Given the description of an element on the screen output the (x, y) to click on. 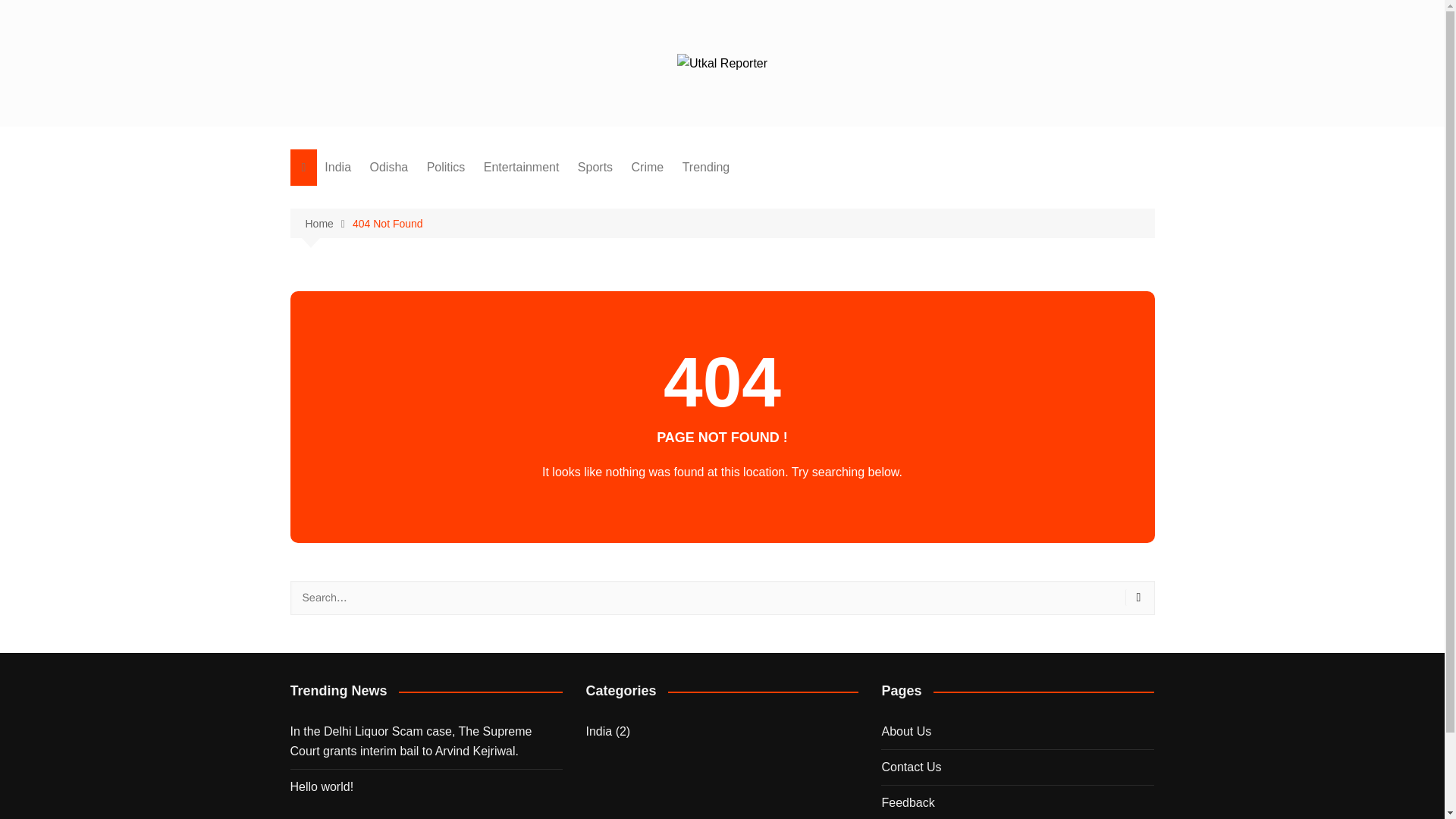
Odisha (389, 167)
Trending (706, 167)
Contact Us (910, 766)
Home (328, 223)
Hello world! (425, 786)
About Us (905, 730)
Feedback (907, 802)
404 Not Found (387, 223)
Crime (647, 167)
Sports (595, 167)
India (598, 731)
Politics (446, 167)
Entertainment (521, 167)
India (337, 167)
